Given the description of an element on the screen output the (x, y) to click on. 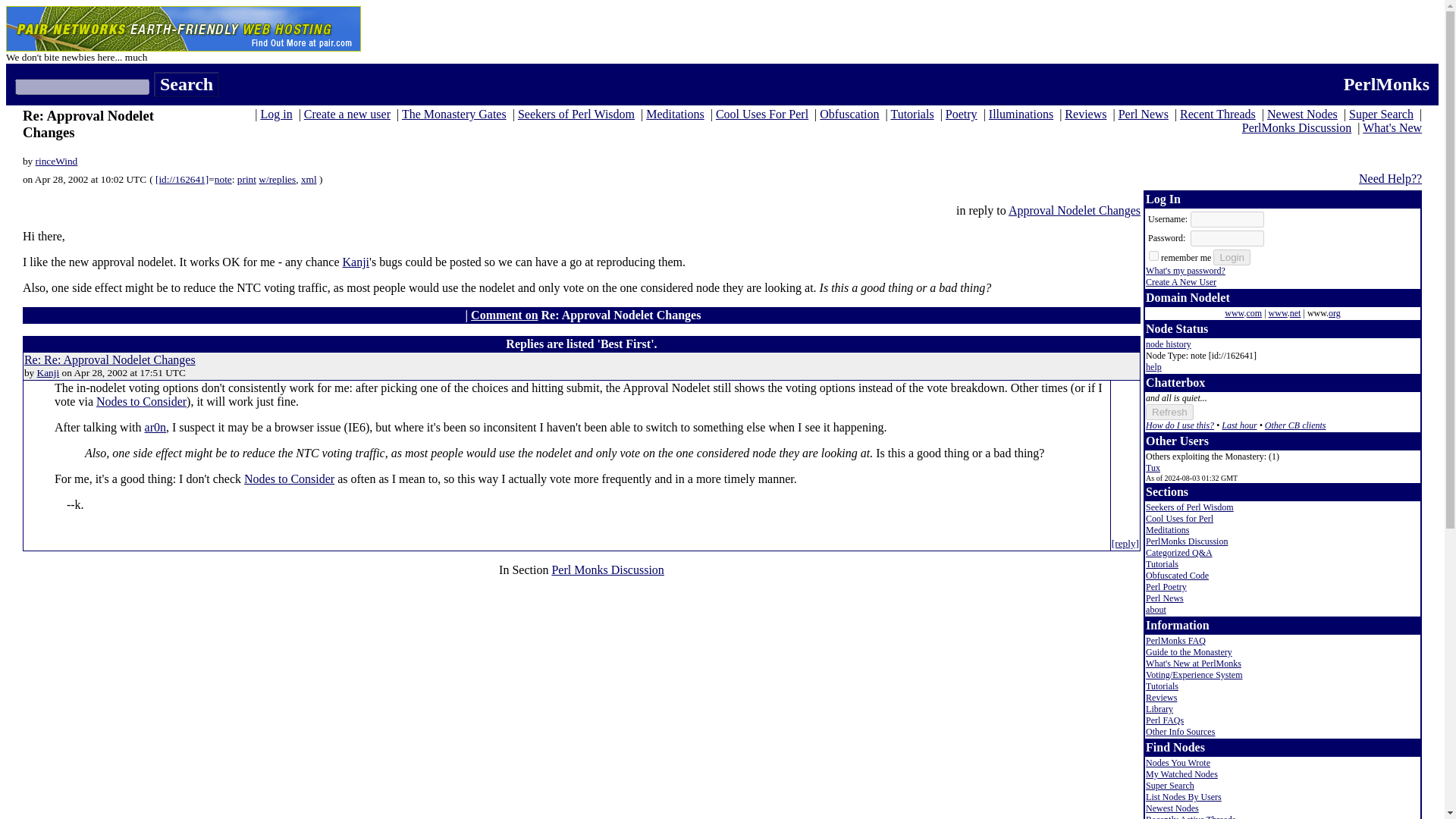
Illuminations (1020, 113)
Meditations (674, 113)
Kanji (48, 372)
Login (1231, 257)
Search (186, 84)
Create a new user (347, 113)
Reviews (1085, 113)
Log in (276, 113)
Cool Uses For Perl (762, 113)
PerlMonks (1386, 84)
note (222, 179)
Perl Monks Discussion (607, 569)
Re: Re: Approval Nodelet Changes (109, 359)
The Monastery Gates (453, 113)
Newest Nodes (1302, 113)
